Given the description of an element on the screen output the (x, y) to click on. 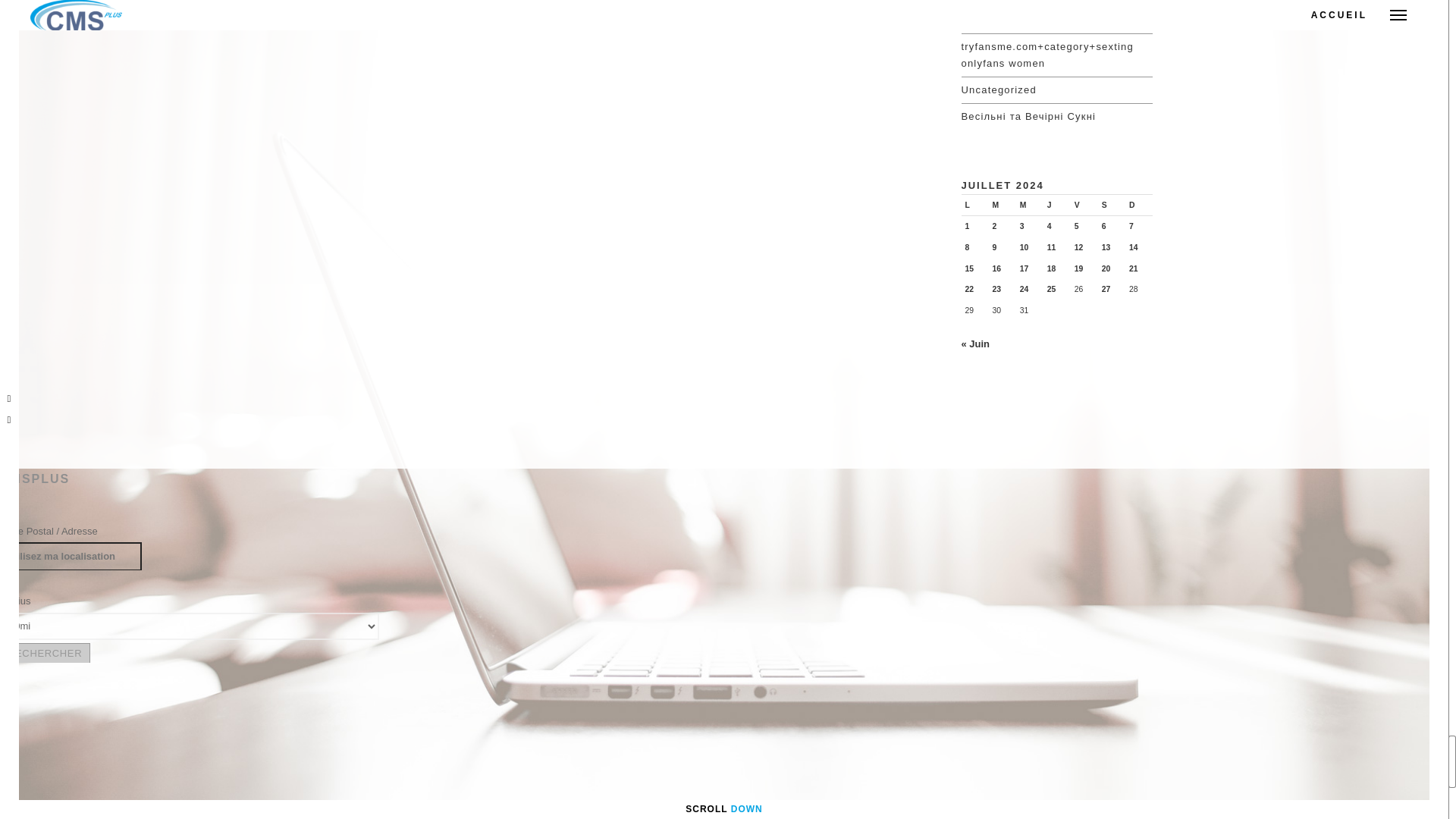
jeudi (1056, 205)
Rechercher (44, 652)
vendredi (1083, 205)
lundi (974, 205)
Rechercher (44, 652)
dimanche (1139, 205)
samedi (1111, 205)
mardi (1002, 205)
mercredi (1029, 205)
